Given the description of an element on the screen output the (x, y) to click on. 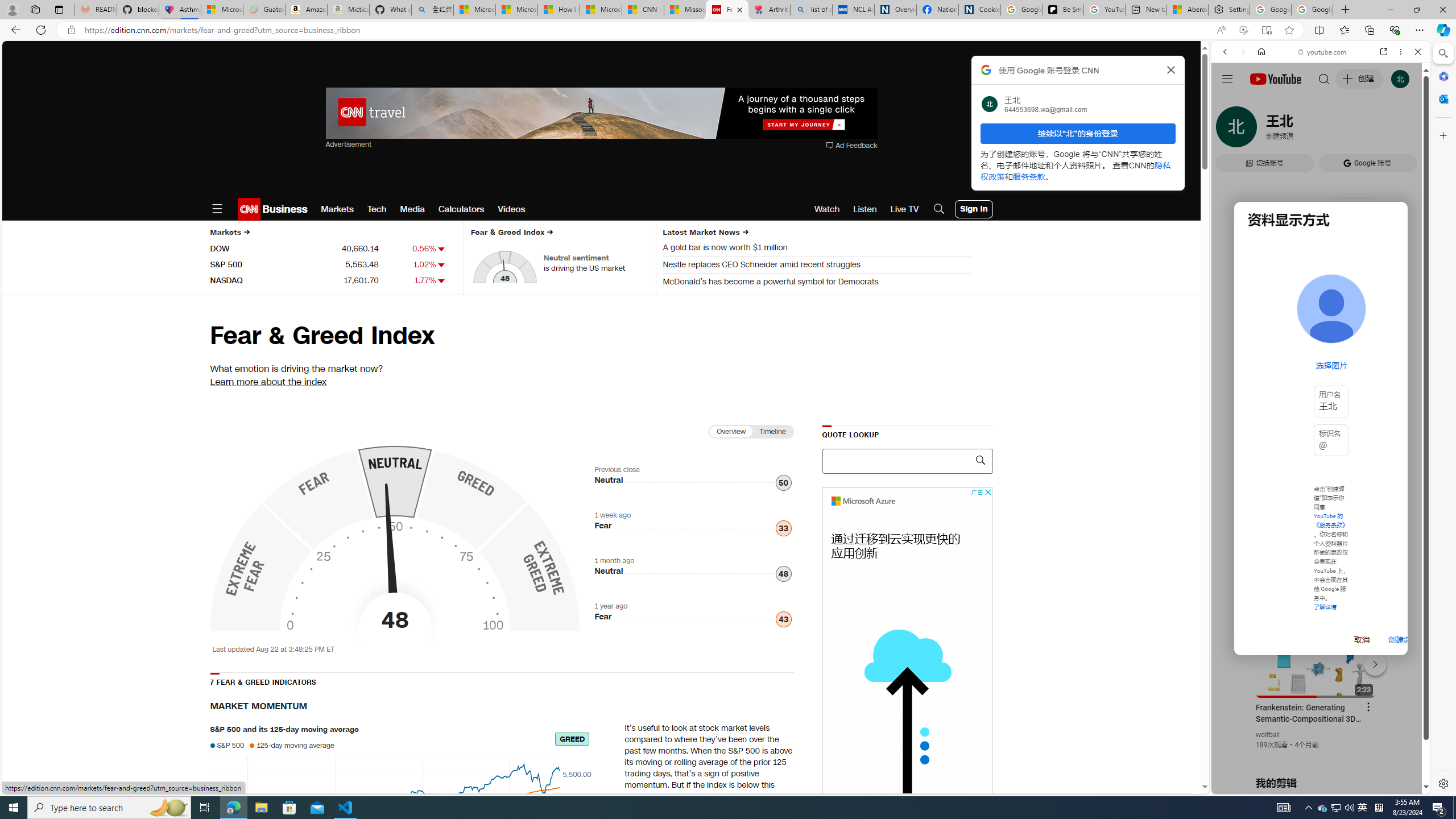
Learn more about the index (268, 381)
A gold bar is now worth $1 million (816, 249)
User Account Log In Button (973, 208)
Neutral sentiment is driving the US market (596, 263)
Search Icon (938, 208)
AutomationID: cbb (987, 492)
Arthritis: Ask Health Professionals (769, 9)
VIDEOS (1300, 130)
Search videos from youtube.com (1299, 373)
